Given the description of an element on the screen output the (x, y) to click on. 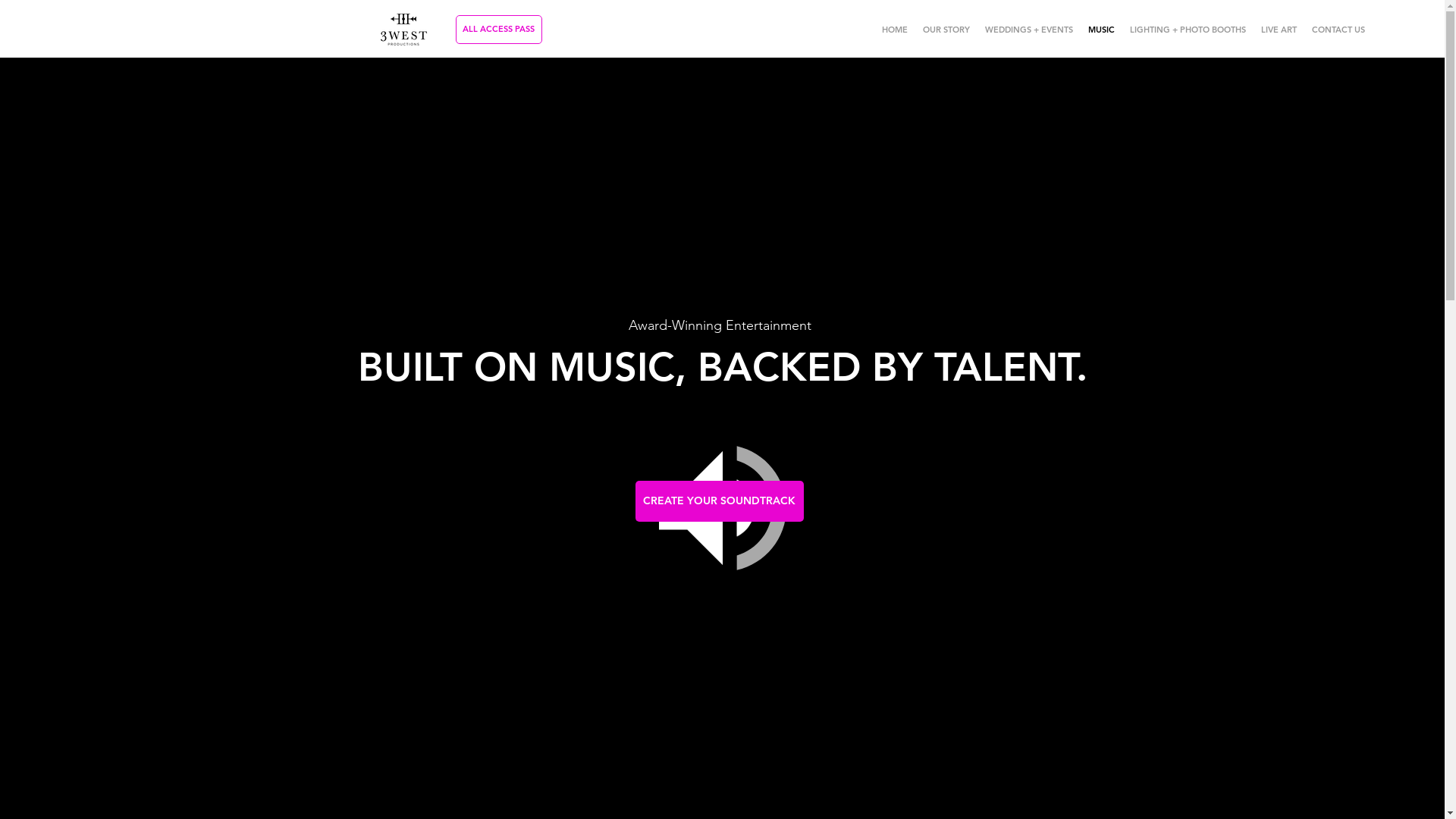
OUR STORY Element type: text (945, 29)
CREATE YOUR SOUNDTRACK Element type: text (719, 500)
LIGHTING + PHOTO BOOTHS Element type: text (1187, 29)
ALL ACCESS PASS Element type: text (498, 29)
CONTACT US Element type: text (1338, 29)
WEDDINGS + EVENTS Element type: text (1027, 29)
MUSIC Element type: text (1100, 29)
HOME Element type: text (893, 29)
LIVE ART Element type: text (1277, 29)
